Given the description of an element on the screen output the (x, y) to click on. 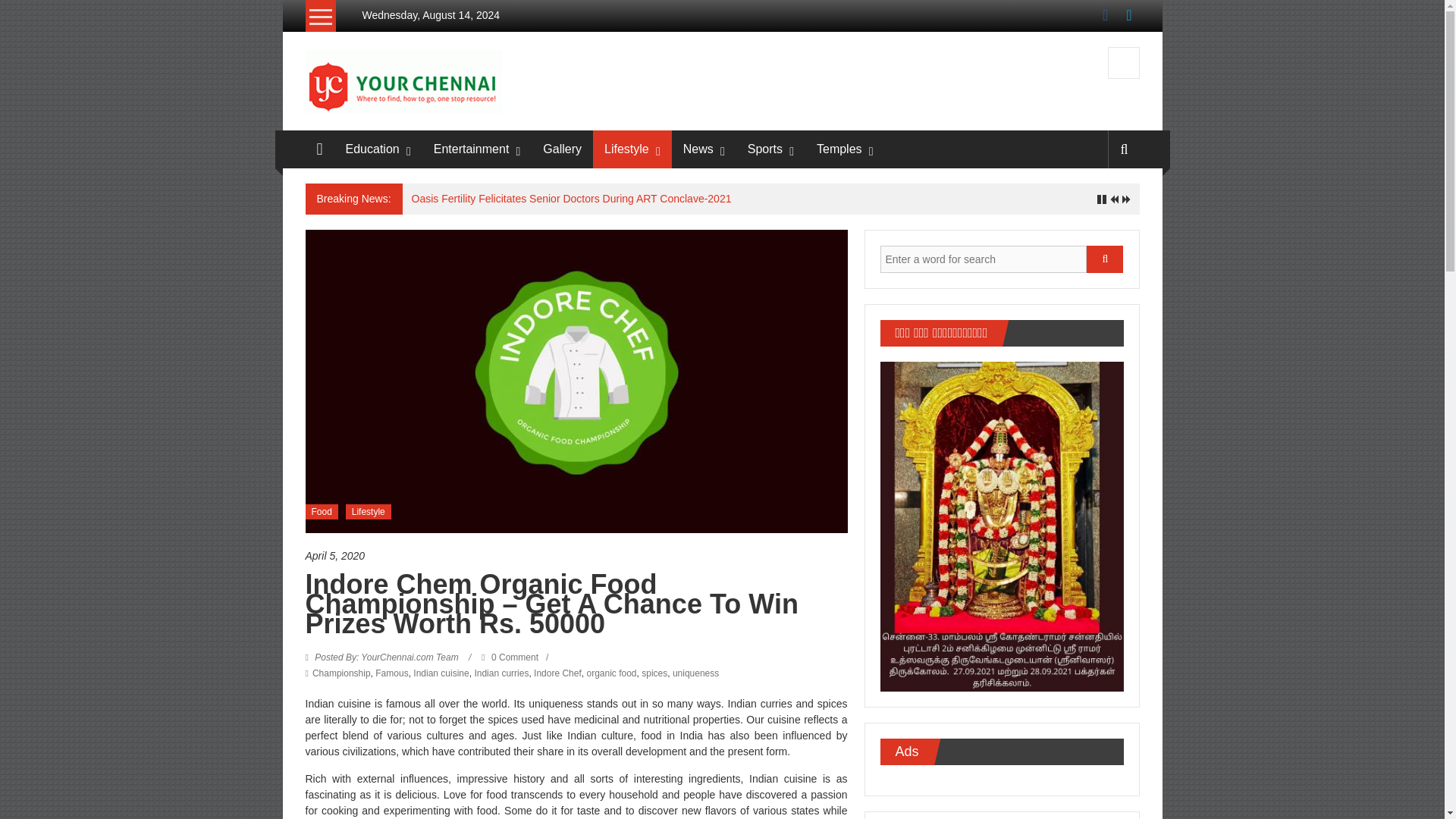
YourChennai.com Team (387, 656)
Entertainment (471, 149)
Education (372, 149)
5:40 am (575, 555)
